Given the description of an element on the screen output the (x, y) to click on. 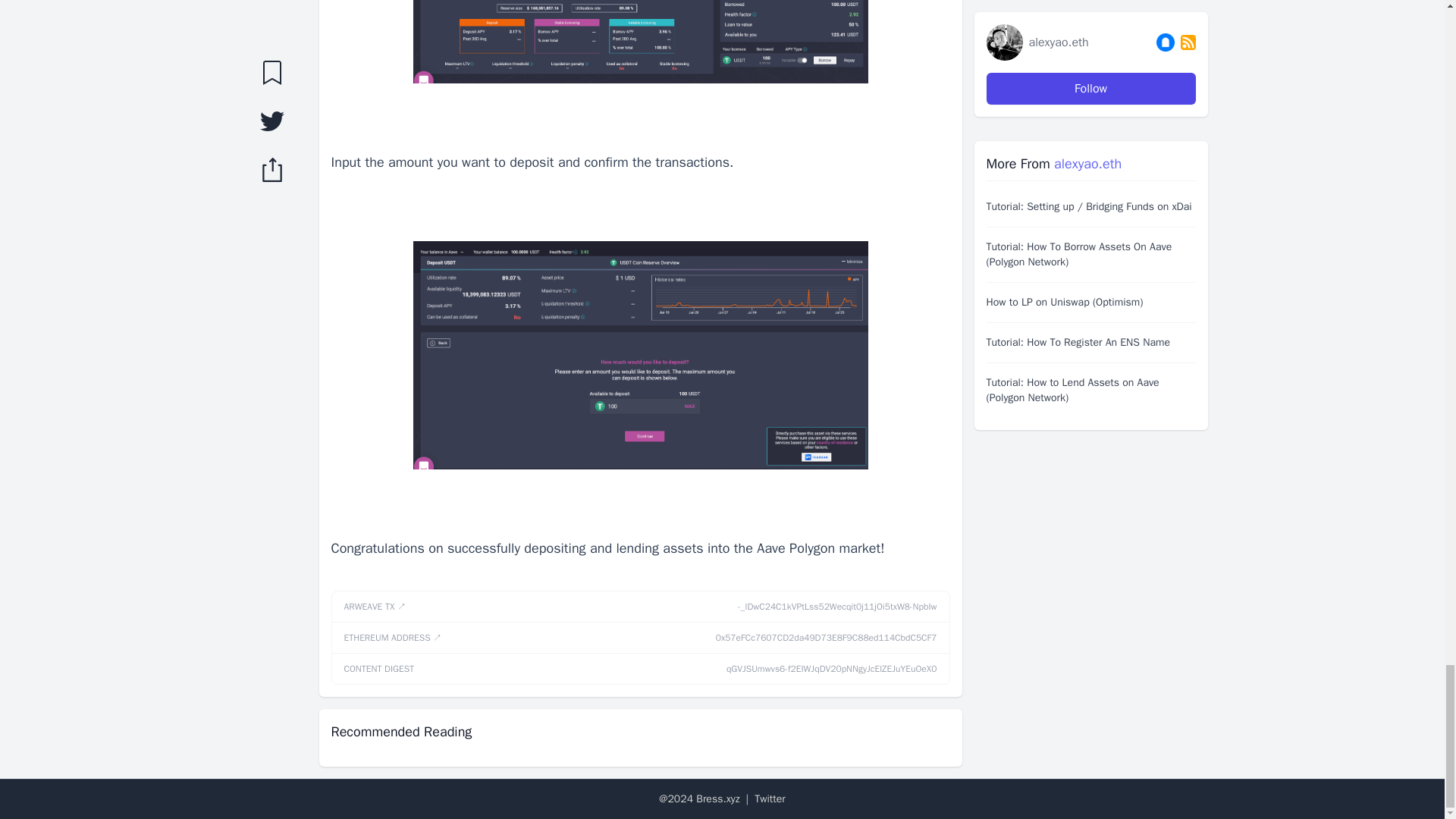
Twitter (770, 798)
